Given the description of an element on the screen output the (x, y) to click on. 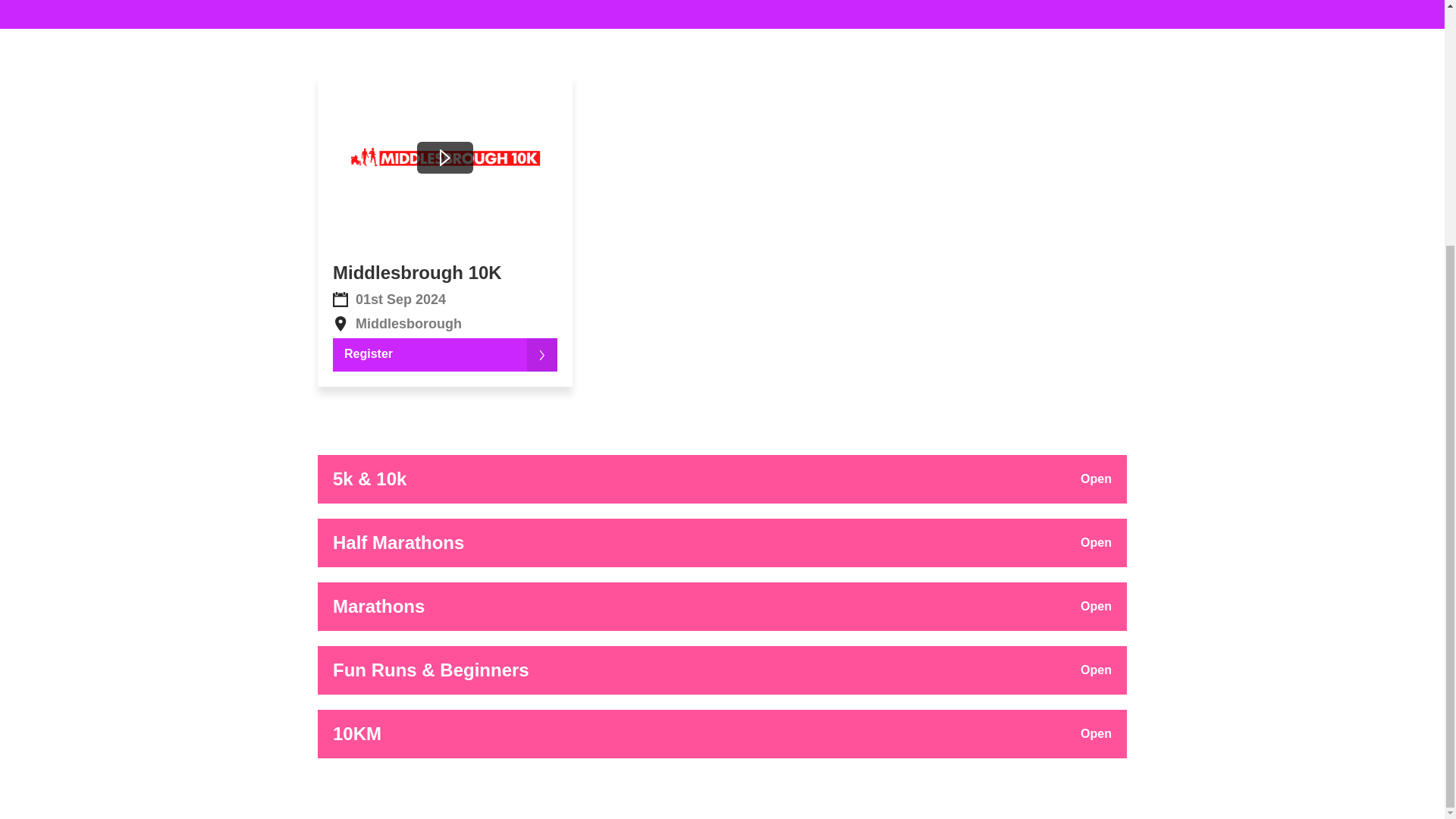
Middlesbrough 10K (417, 272)
Register (445, 354)
